Given the description of an element on the screen output the (x, y) to click on. 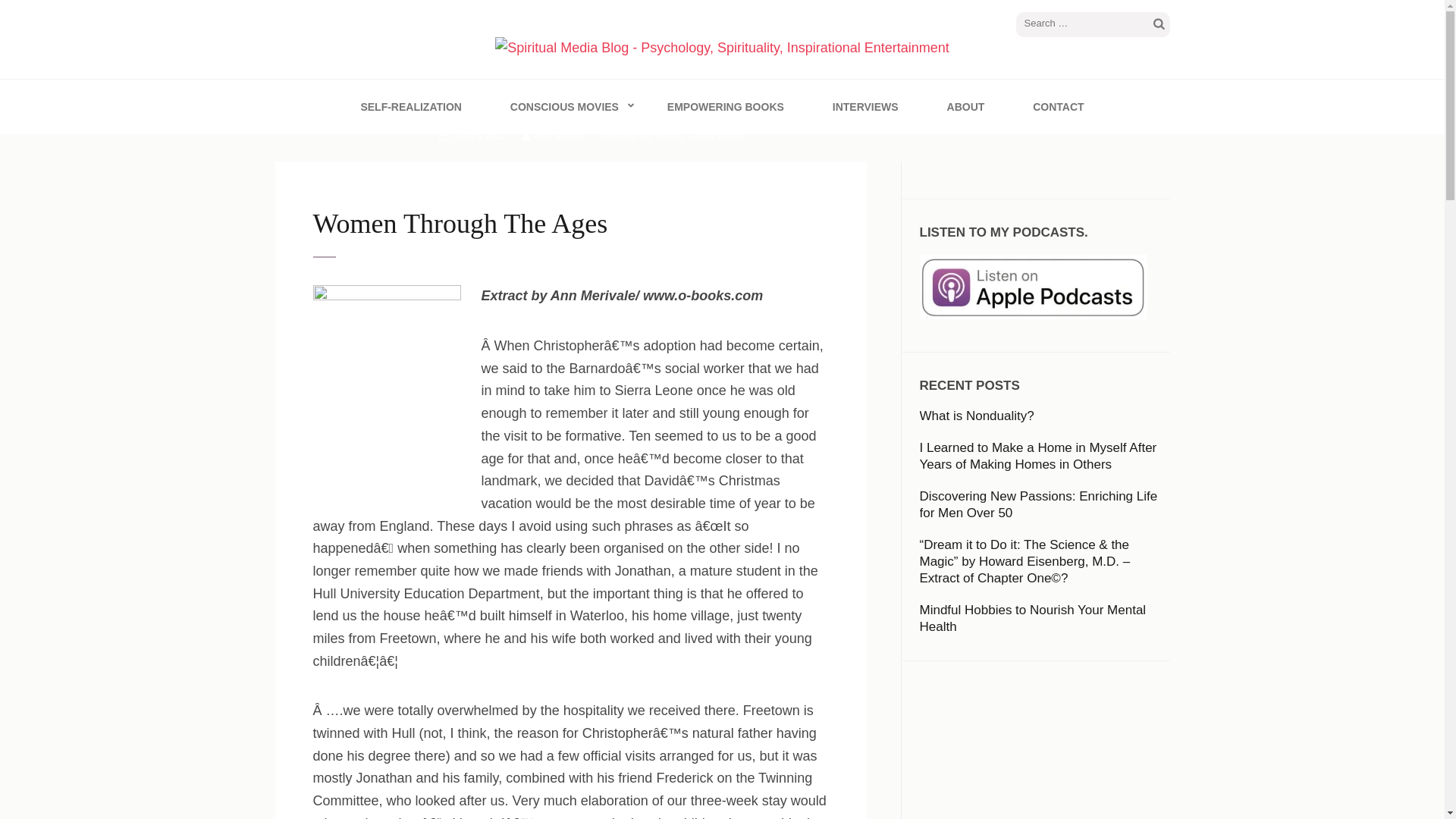
CONSCIOUS MOVIES (564, 106)
Guest Posts (715, 135)
Search (1158, 24)
Matt Welsh (552, 135)
Search (1158, 24)
Spiritual Media Blog (443, 79)
EMPOWERING BOOKS (725, 106)
INTERVIEWS (865, 106)
26 July 2022 (472, 135)
Empowering Books (640, 135)
